Given the description of an element on the screen output the (x, y) to click on. 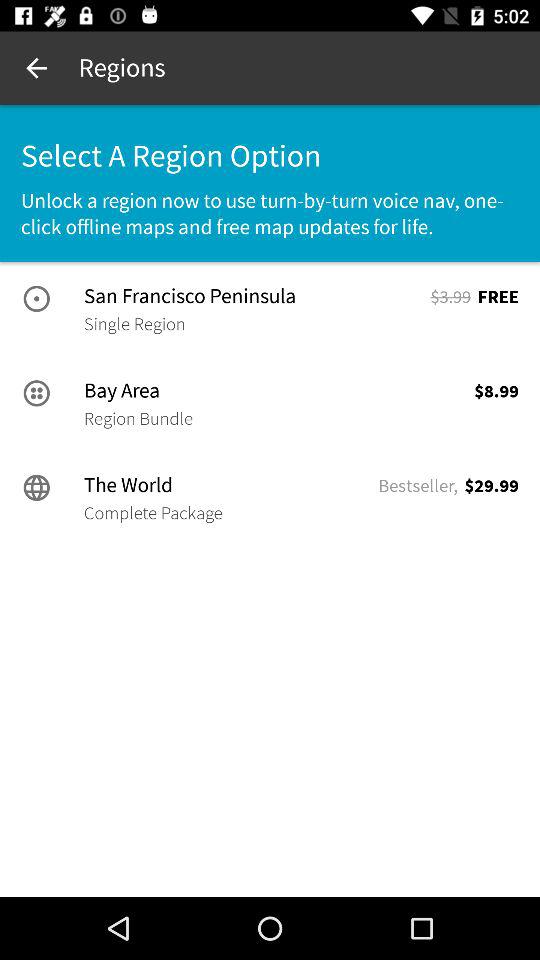
turn on the item below the bay area item (138, 418)
